Given the description of an element on the screen output the (x, y) to click on. 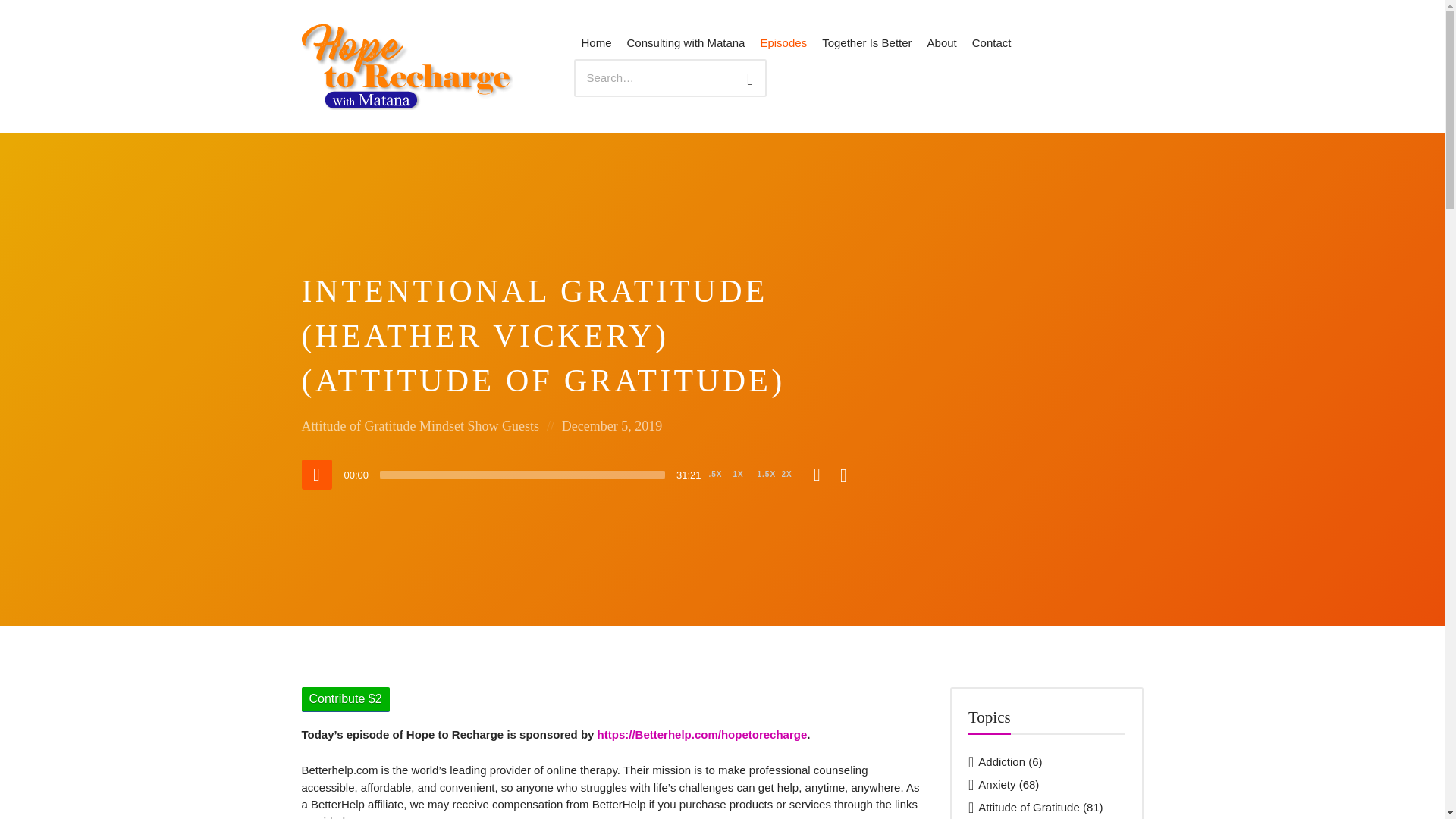
Consulting with Matana (686, 43)
Play (316, 474)
December 5, 2019 (612, 426)
Mindset (441, 426)
Together Is Better (865, 43)
Attitude of Gratitude (358, 426)
Home (595, 43)
Playback Speed 1.5x (766, 474)
Show Guests (502, 426)
About (941, 43)
Playback Speed 0.5x (714, 474)
.5X (714, 474)
1.5X (766, 474)
Episodes (782, 43)
Contact (991, 43)
